Given the description of an element on the screen output the (x, y) to click on. 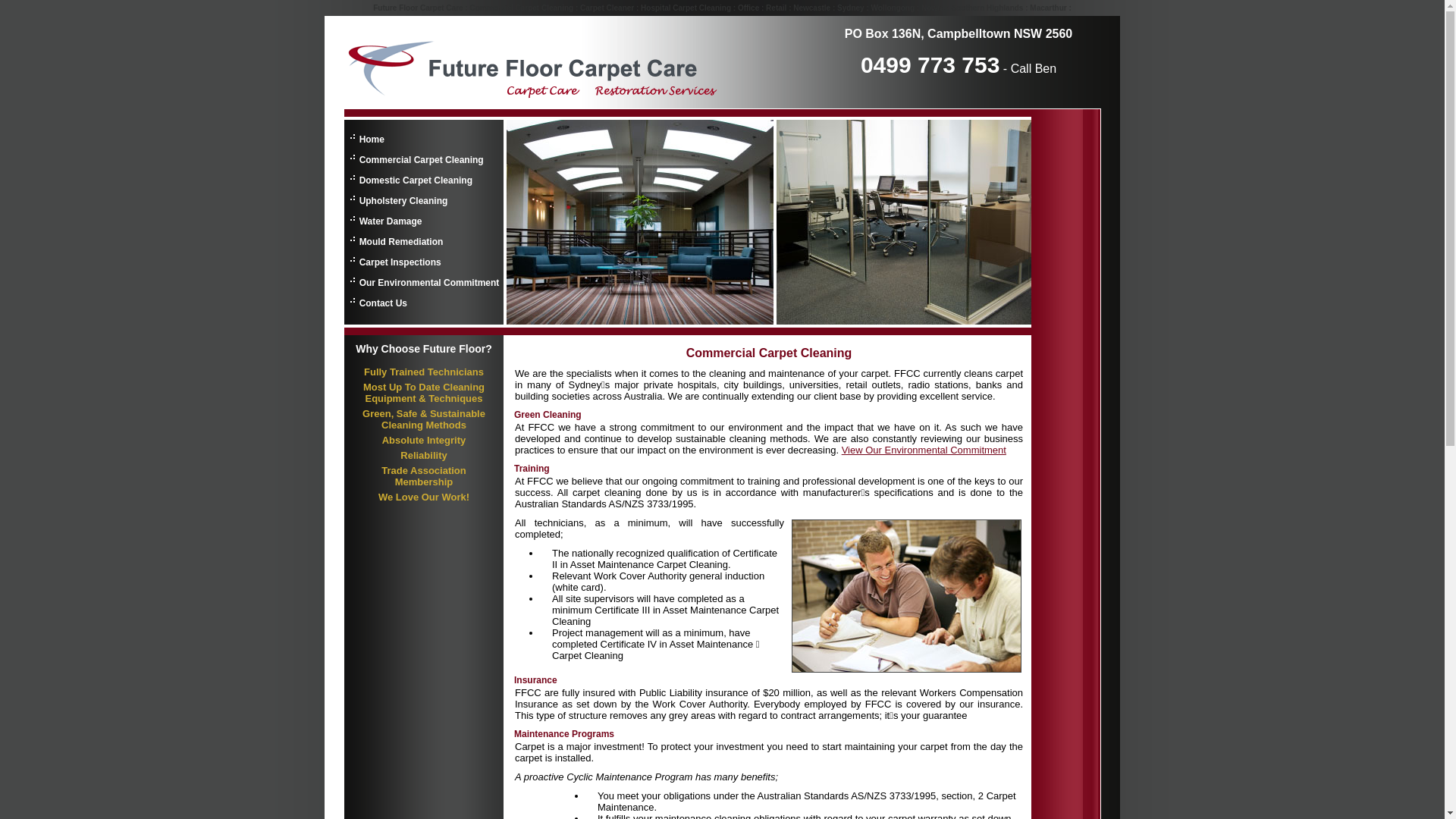
Future Floor Carpet Cleaning Element type: hover (423, 405)
Water Damage Element type: text (390, 221)
Future Floor Carpet Cleaning Element type: hover (423, 379)
Carpet Inspections Element type: text (400, 262)
Mould Remediation Element type: text (401, 241)
View Our Environmental Commitment Element type: text (923, 449)
Future Floor Carpet Cleaning Element type: hover (423, 489)
Domestic Carpet Cleaning Element type: text (415, 180)
Water Damage Element type: hover (350, 215)
Commercial Carpet Cleaning Element type: text (421, 159)
Our Environmental Commitment Element type: text (429, 282)
Mould Remediation Element type: hover (350, 235)
Commercial Carpet Cleaning Element type: hover (906, 595)
Carpet Inspections Element type: hover (350, 256)
Future Floor Carpet Care Element type: hover (560, 61)
Future Floor Carpet Cleaning Element type: hover (423, 432)
Future Floor Carpet Cleaning Element type: hover (423, 462)
Upholstery Cleaning Element type: text (403, 200)
Contact Us Element type: hover (350, 297)
Home Element type: hover (350, 130)
Our Environmental Commitment Element type: hover (350, 276)
Commercial Carpet Cleaning Element type: hover (350, 153)
Future Floor Carpet Cleaning Element type: hover (423, 447)
Contact Us Element type: text (383, 303)
Domestic Carpet Cleaning Element type: hover (350, 174)
Home Element type: text (371, 139)
Upholstery Cleaning Element type: hover (350, 194)
